Given the description of an element on the screen output the (x, y) to click on. 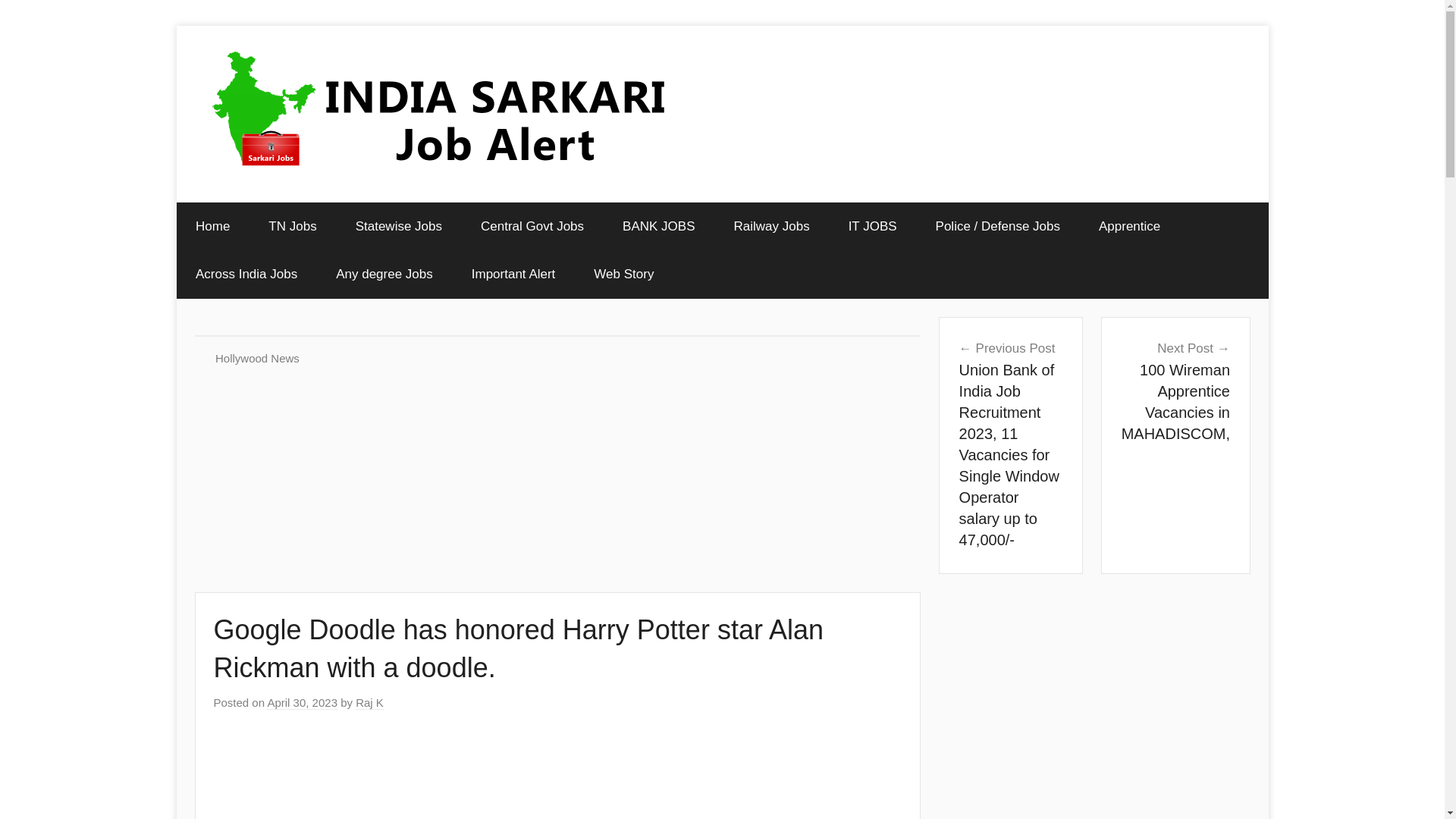
Hollywood News (257, 358)
Web Story (623, 274)
Apprentice (1129, 225)
Home (212, 225)
View all posts by Raj K (1175, 390)
IT JOBS (369, 703)
Advertisement (871, 225)
Any degree Jobs (558, 776)
